Given the description of an element on the screen output the (x, y) to click on. 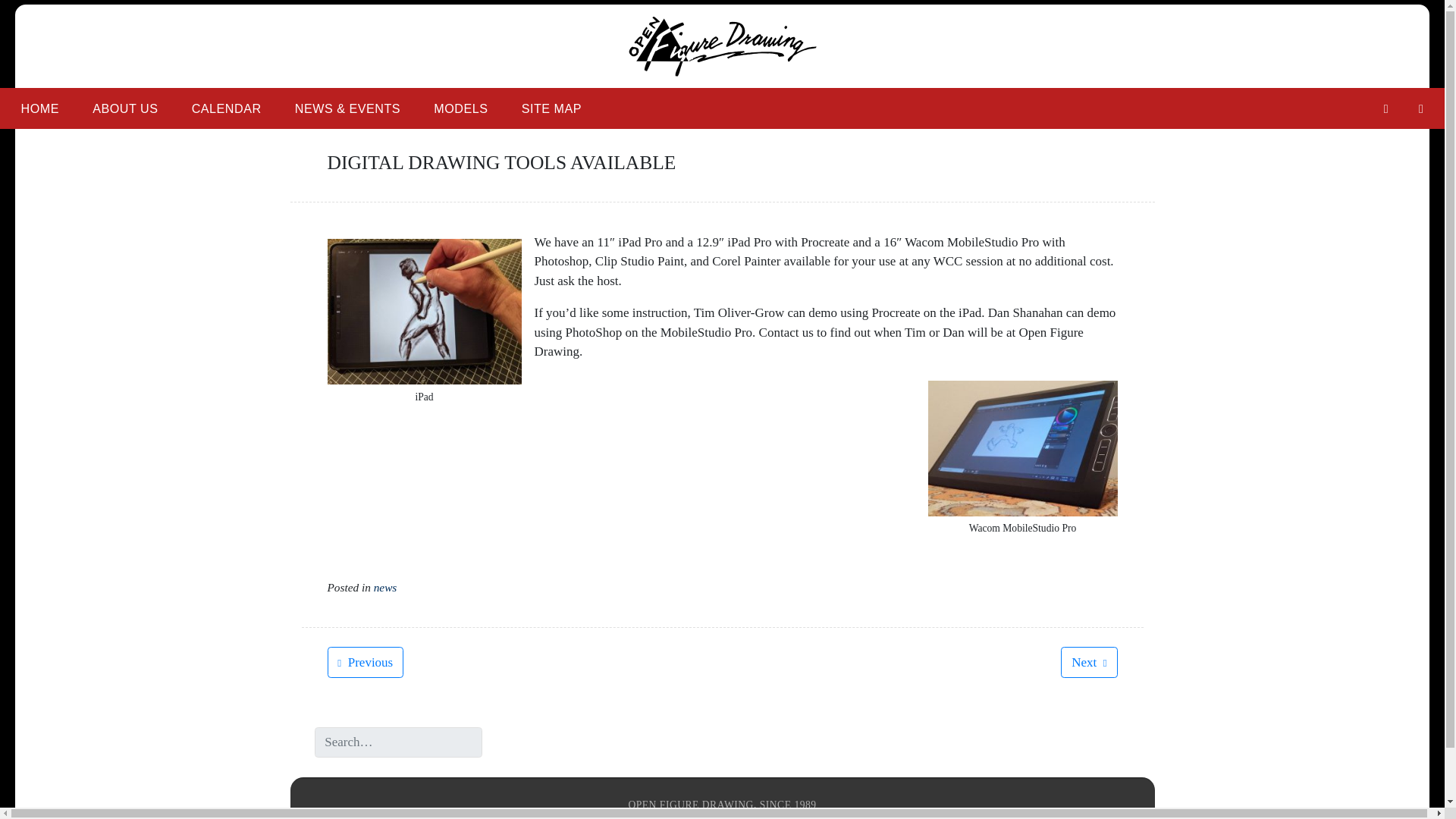
Next (1088, 660)
OPEN FIGURE DRAWING (474, 95)
SITE MAP (551, 107)
news (385, 586)
Previous (365, 660)
CALENDAR (226, 107)
HOME (39, 107)
MODELS (460, 107)
ABOUT US (125, 107)
